Given the description of an element on the screen output the (x, y) to click on. 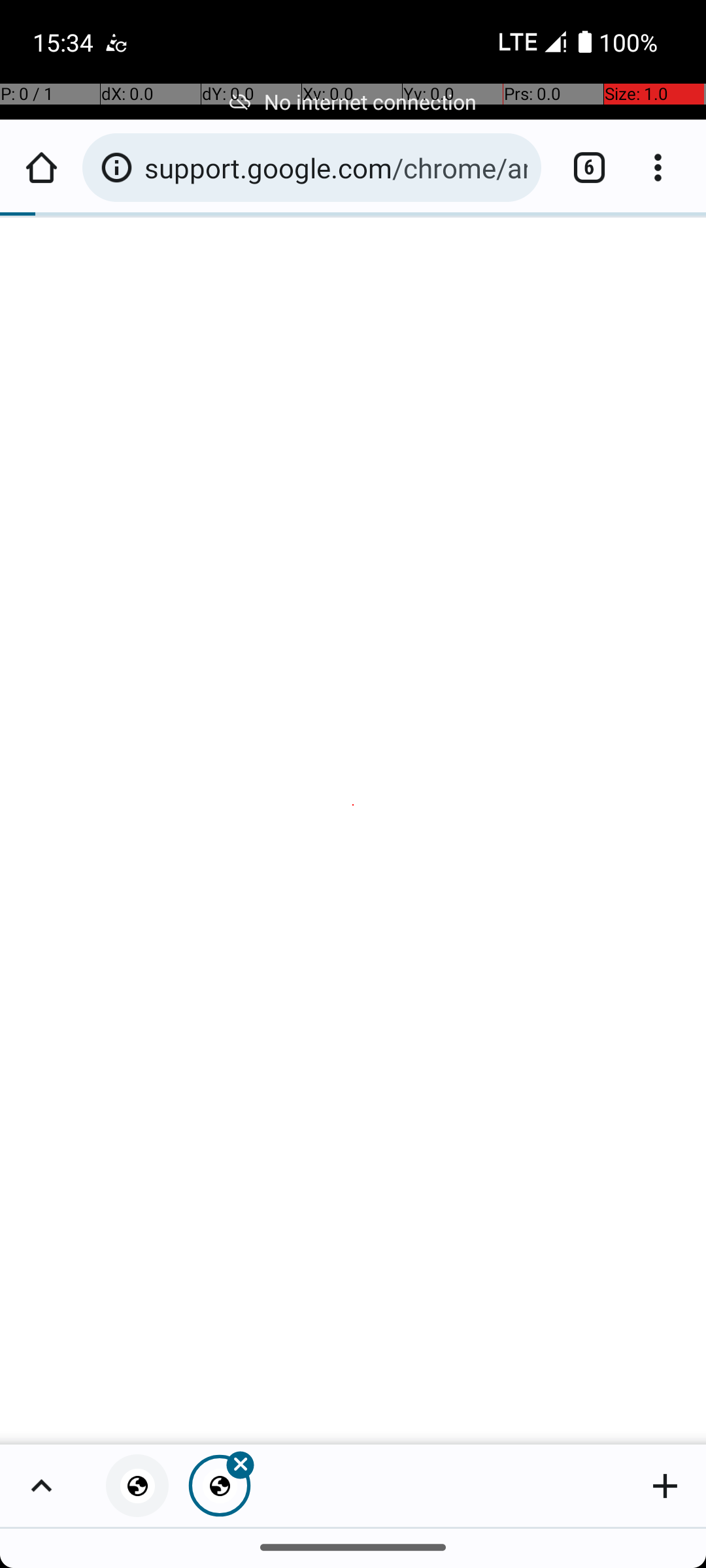
Show group's tabs in fullscreen grid Element type: android.widget.ImageView (41, 1485)
Add new tab to group Element type: android.widget.ImageView (664, 1485)
support.google.com/chrome/answer/6098869#-201 Element type: android.widget.EditText (335, 167)
Privacy error, tab Element type: android.widget.ImageButton (137, 1485)
Close  tab Element type: android.widget.ImageButton (219, 1485)
